Given the description of an element on the screen output the (x, y) to click on. 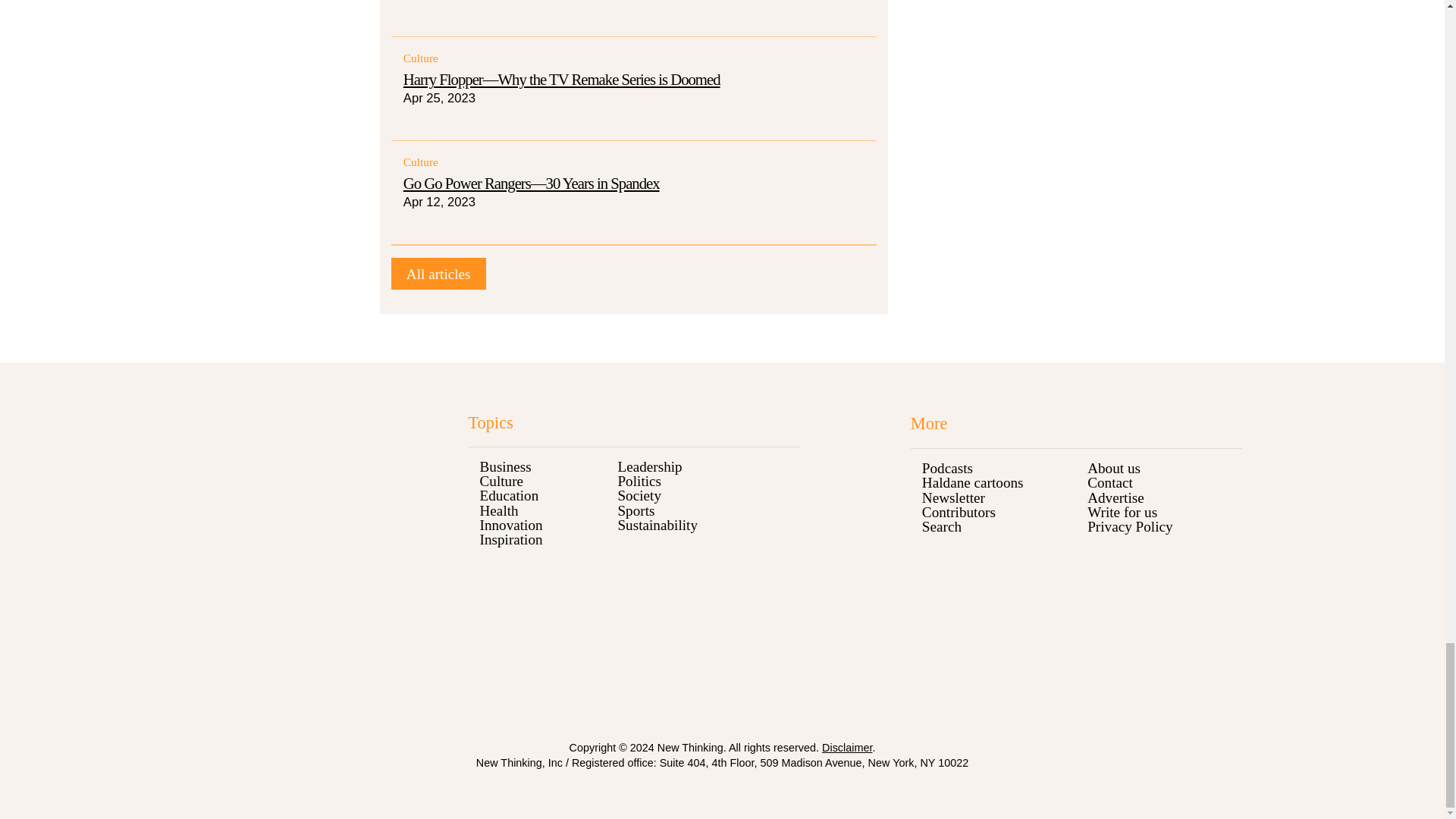
Sandro Monetti (438, 274)
